Given the description of an element on the screen output the (x, y) to click on. 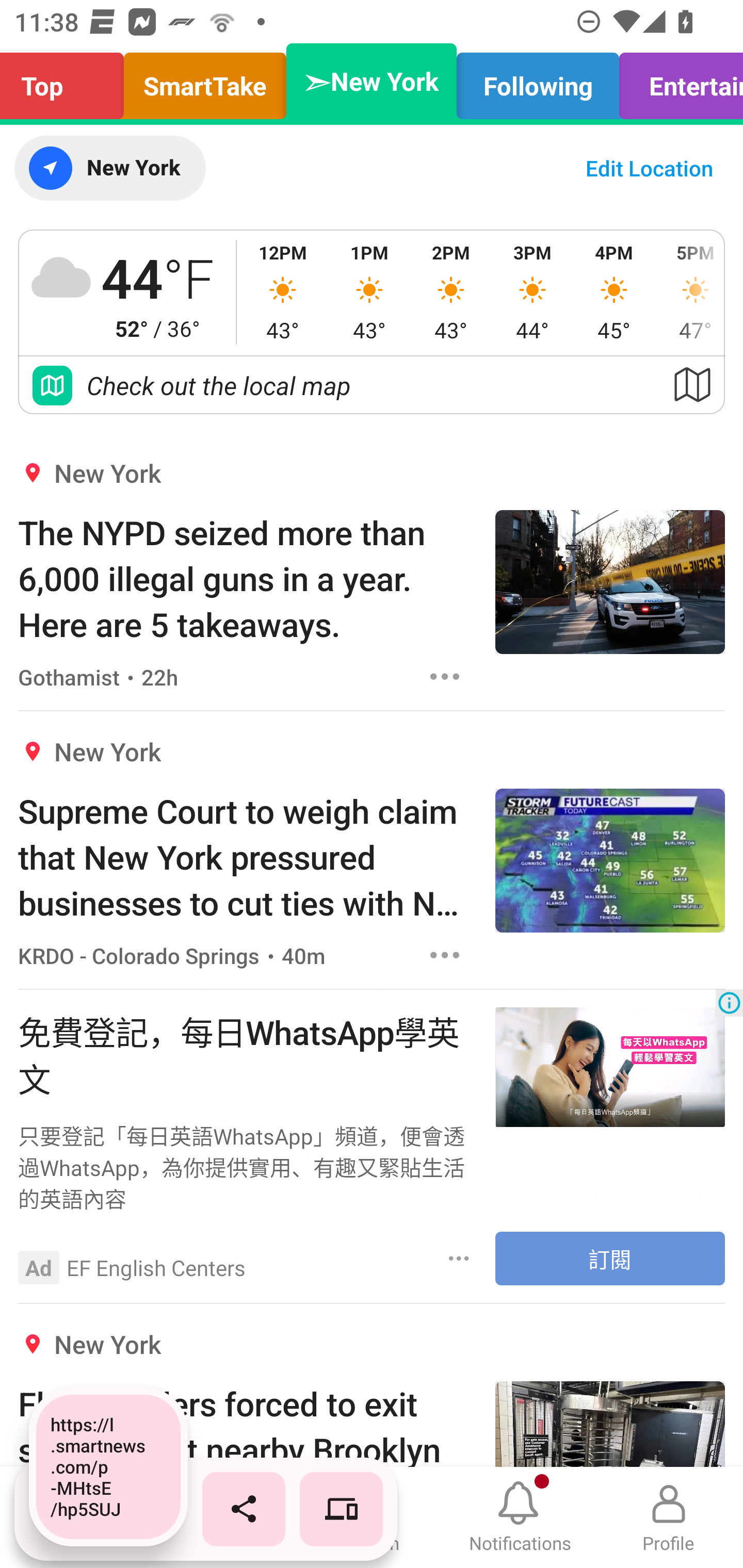
Top (67, 81)
SmartTake (204, 81)
➣New York (371, 81)
Following (537, 81)
New York (109, 168)
Edit Location (648, 168)
12PM 43° (282, 291)
1PM 43° (369, 291)
2PM 43° (450, 291)
3PM 44° (532, 291)
4PM 45° (613, 291)
5PM 47° (689, 291)
Check out the local map (371, 384)
Options (444, 676)
Options (444, 954)
Ad Choices Icon (729, 1002)
免費登記，每日WhatsApp學英文 (247, 1053)
訂閱 (610, 1258)
Options (459, 1258)
EF English Centers (155, 1267)
Local (222, 1517)
Search (371, 1517)
Notifications, New notification Notifications (519, 1517)
Profile (668, 1517)
